Given the description of an element on the screen output the (x, y) to click on. 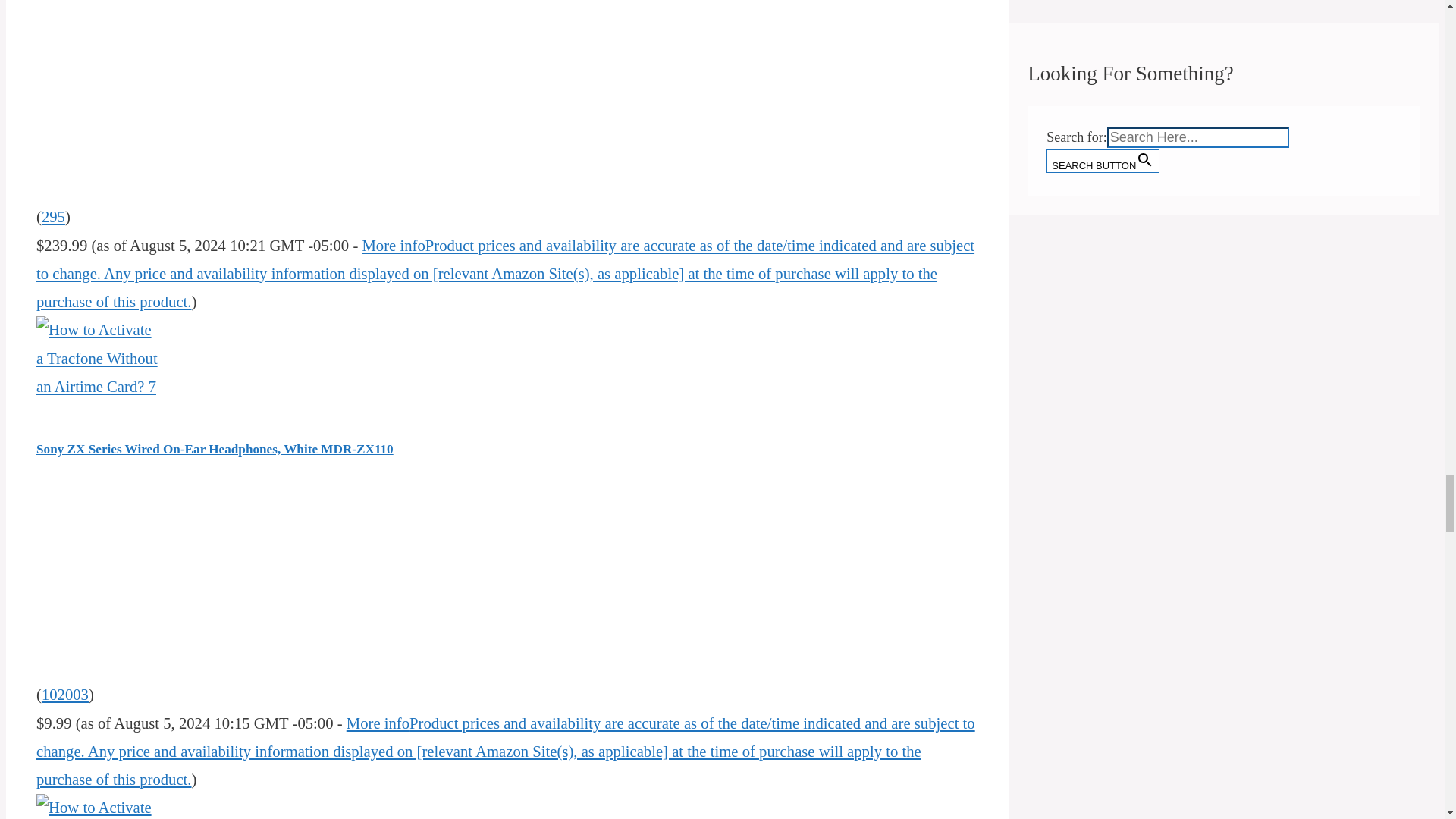
Sony ZX Series Wired On-Ear Headphones, White MDR-ZX110:  (96, 386)
